Given the description of an element on the screen output the (x, y) to click on. 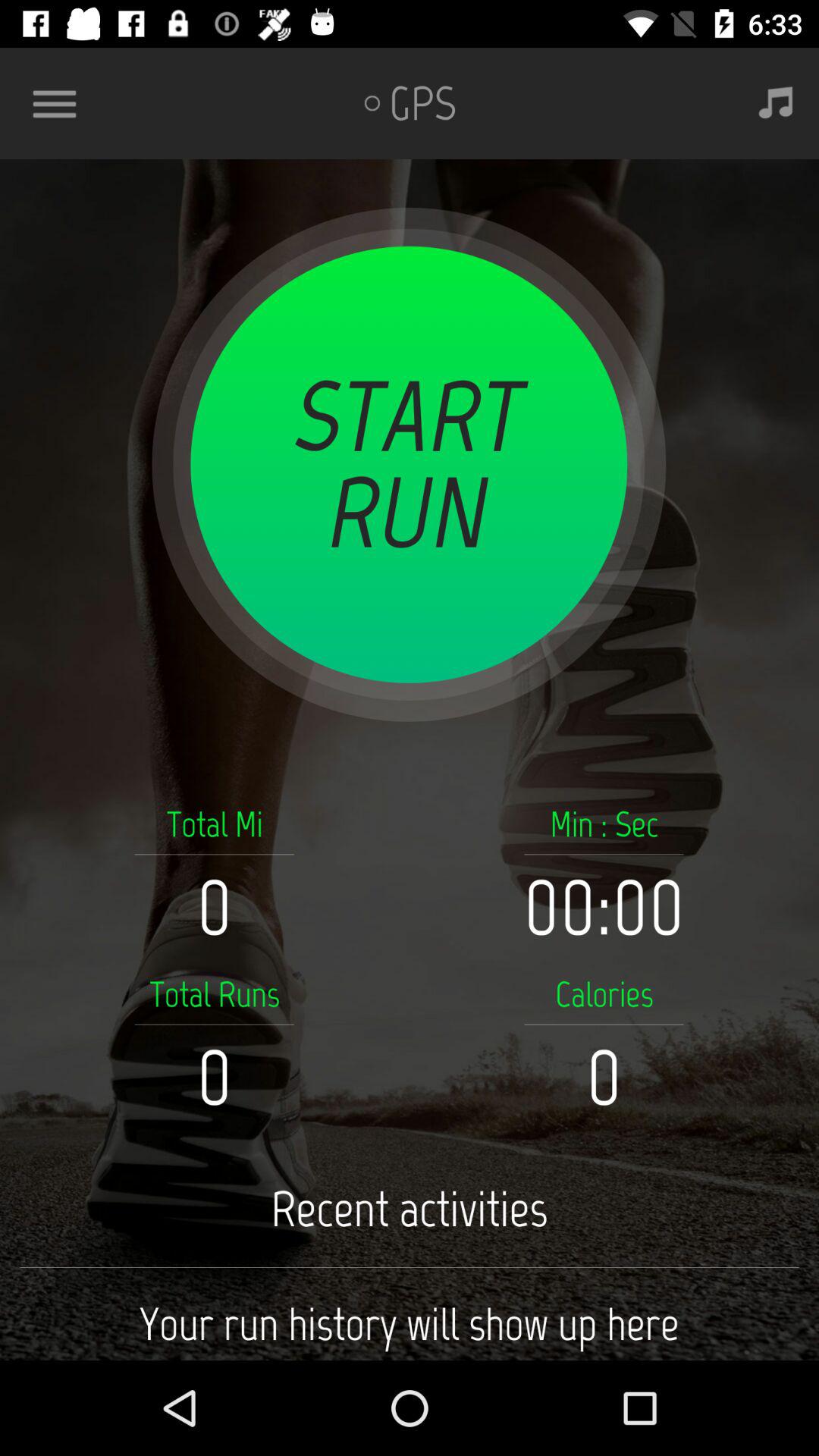
show listings (60, 103)
